Given the description of an element on the screen output the (x, y) to click on. 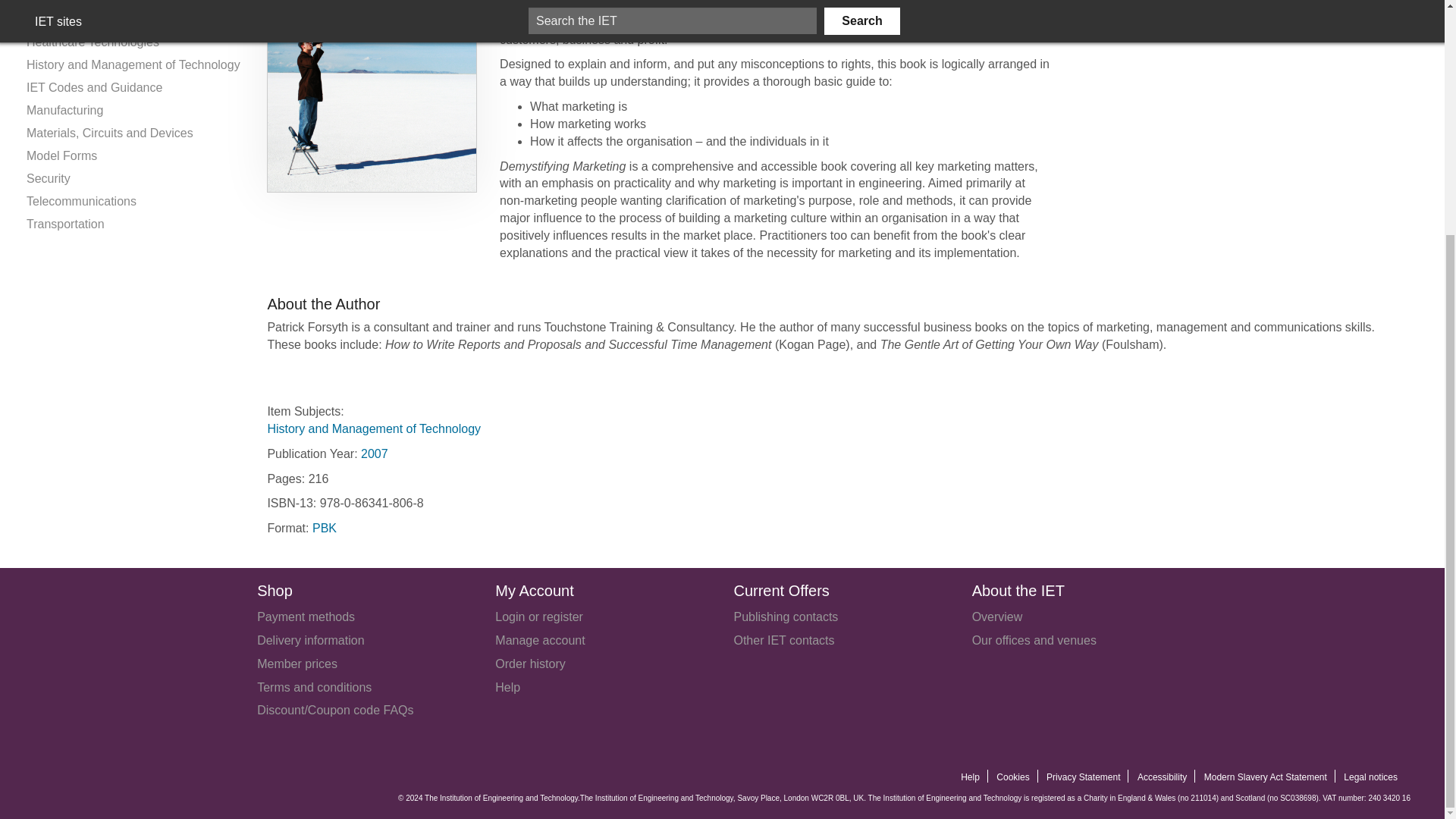
Discount FAQs (335, 709)
Payment methods (306, 616)
Terms and conditions (314, 686)
Delivery information (310, 640)
Member prices (297, 663)
